Given the description of an element on the screen output the (x, y) to click on. 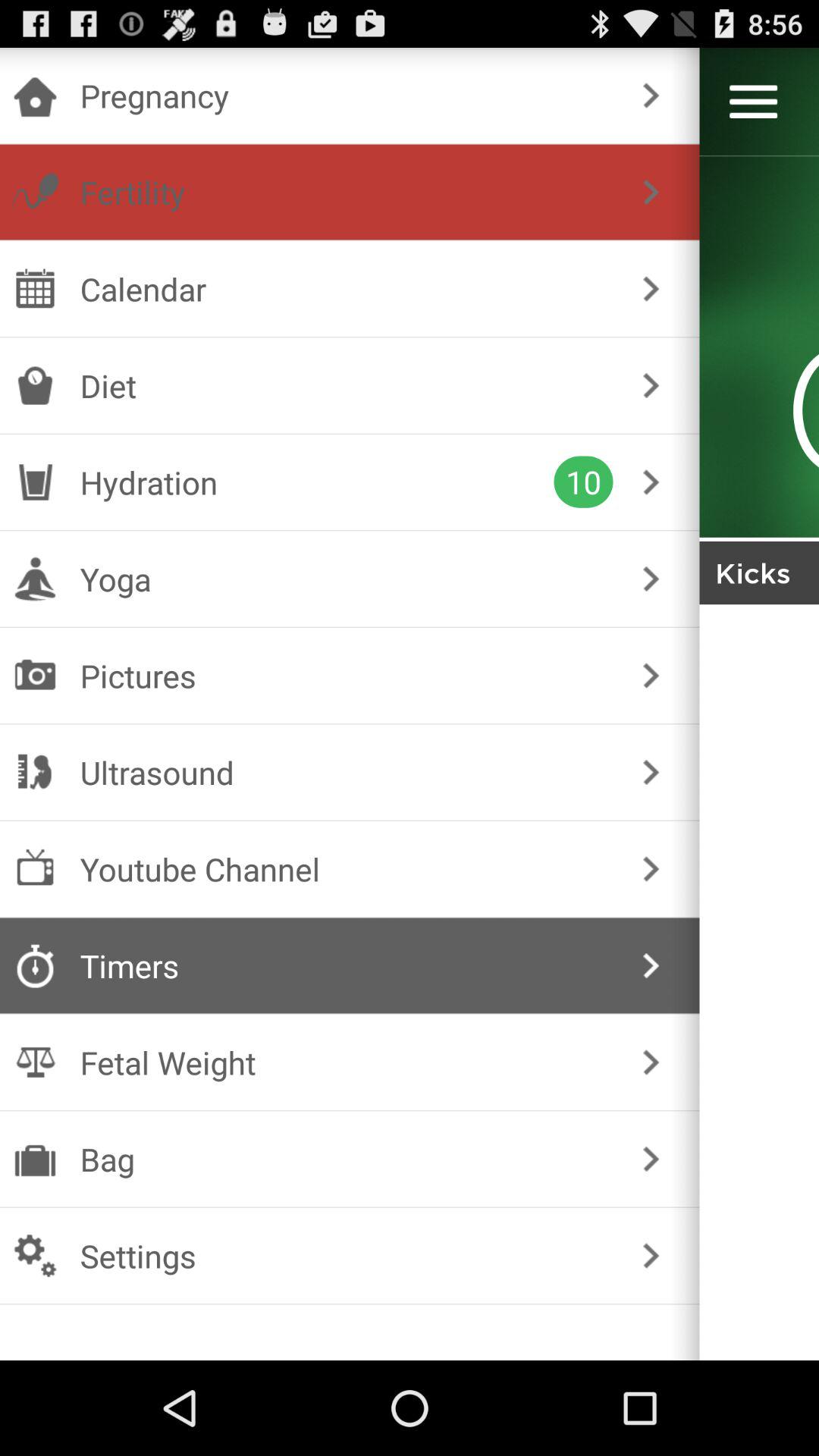
press item above the calendar (346, 191)
